Given the description of an element on the screen output the (x, y) to click on. 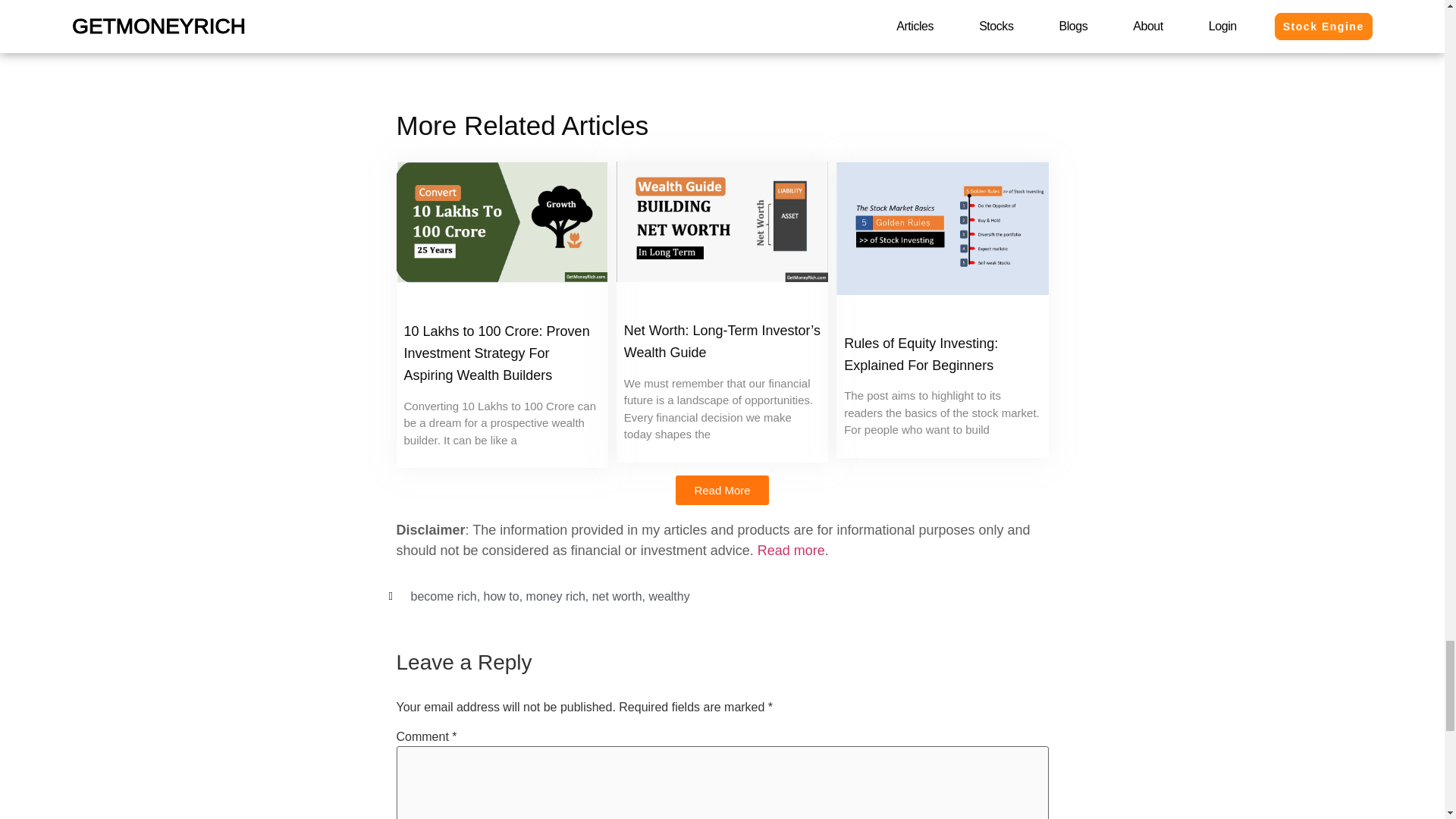
Read More (721, 490)
Rules of Equity Investing: Explained For Beginners (920, 354)
